Given the description of an element on the screen output the (x, y) to click on. 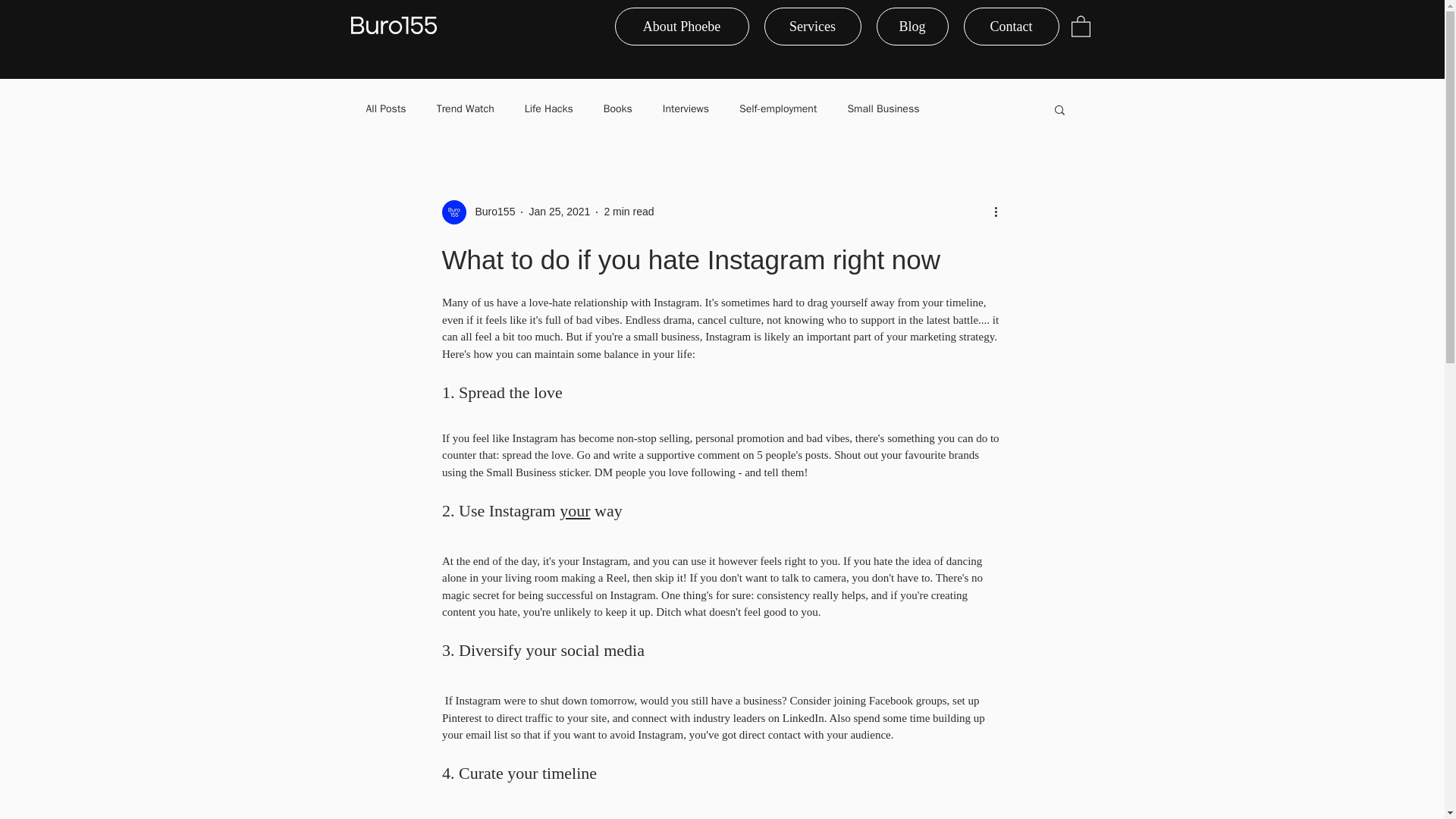
Contact (1010, 26)
Blog (912, 26)
Small Business (882, 109)
Buro155 (478, 211)
About Phoebe (681, 26)
Services (812, 26)
Jan 25, 2021 (558, 211)
Self-employment (777, 109)
All Posts (385, 109)
Life Hacks (548, 109)
